Given the description of an element on the screen output the (x, y) to click on. 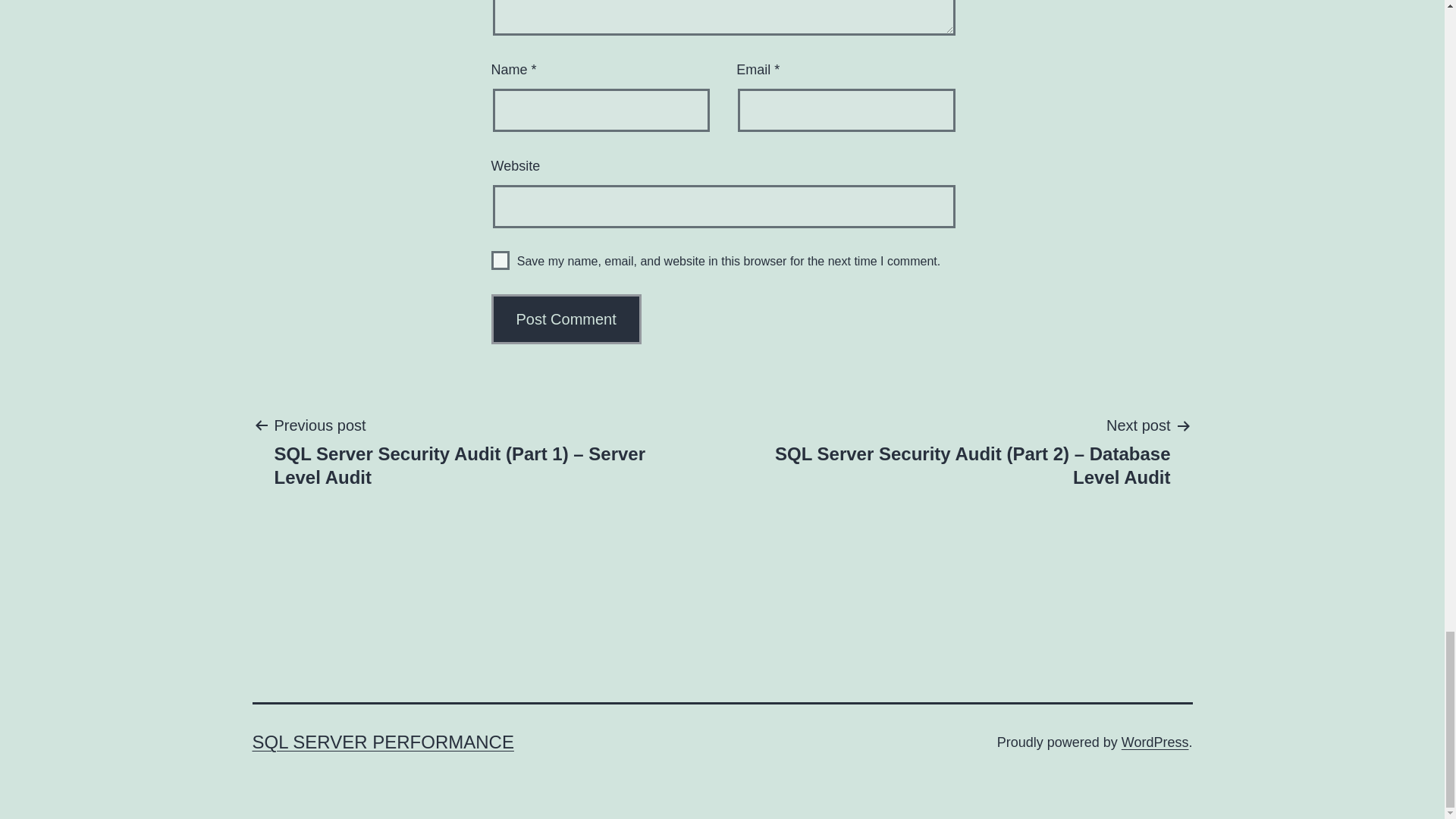
SQL SERVER PERFORMANCE (382, 742)
Post Comment (567, 318)
Post Comment (567, 318)
yes (500, 260)
WordPress (1155, 742)
